Given the description of an element on the screen output the (x, y) to click on. 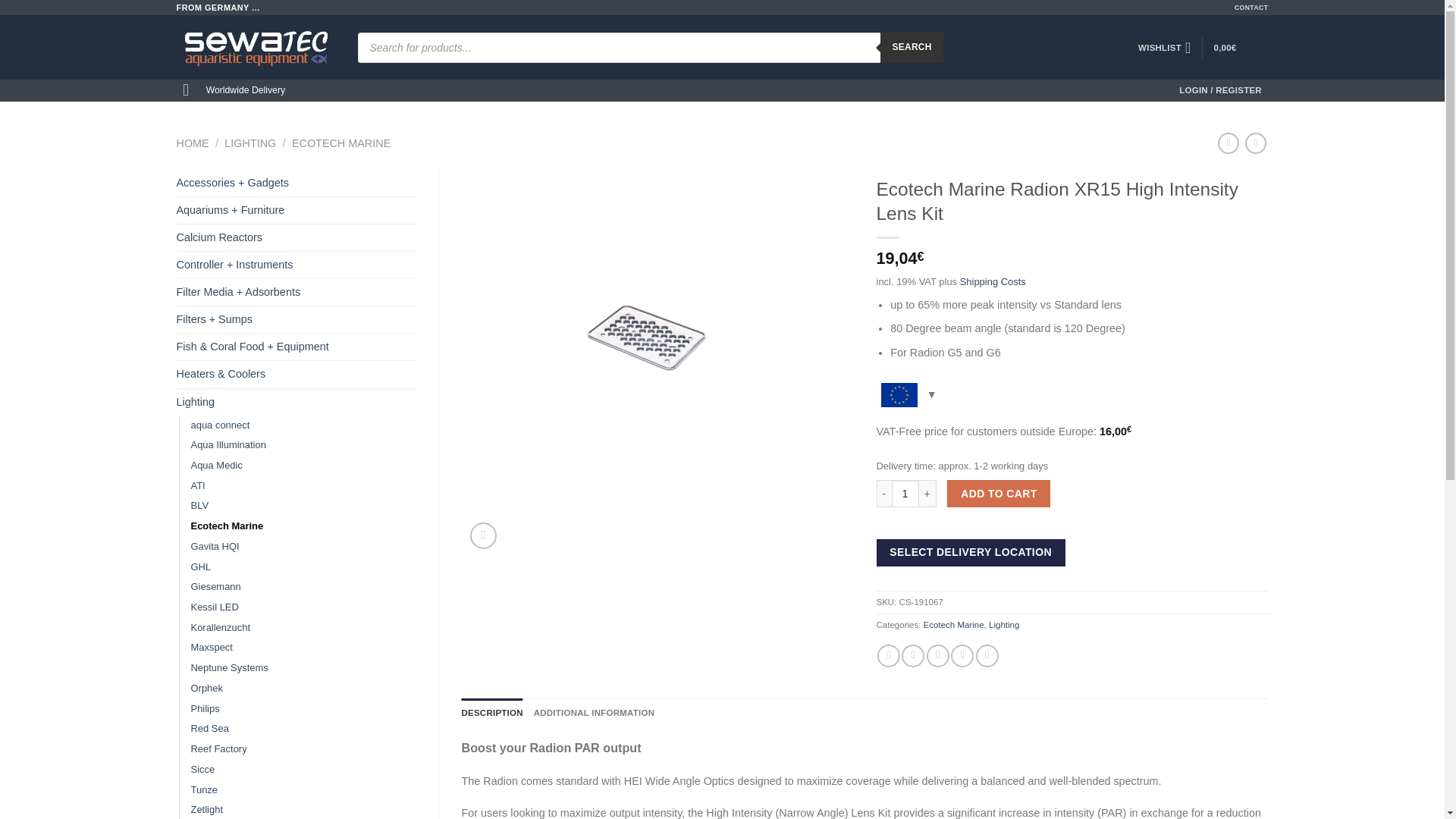
WISHLIST (1164, 47)
CONTACT (1251, 7)
1 (904, 492)
ECOTECH MARINE (341, 143)
Sewatec A.E. - International Reef Supply (255, 47)
Zoom (483, 535)
SEARCH (911, 47)
Please select your currency (906, 400)
Wishlist (1164, 47)
